Given the description of an element on the screen output the (x, y) to click on. 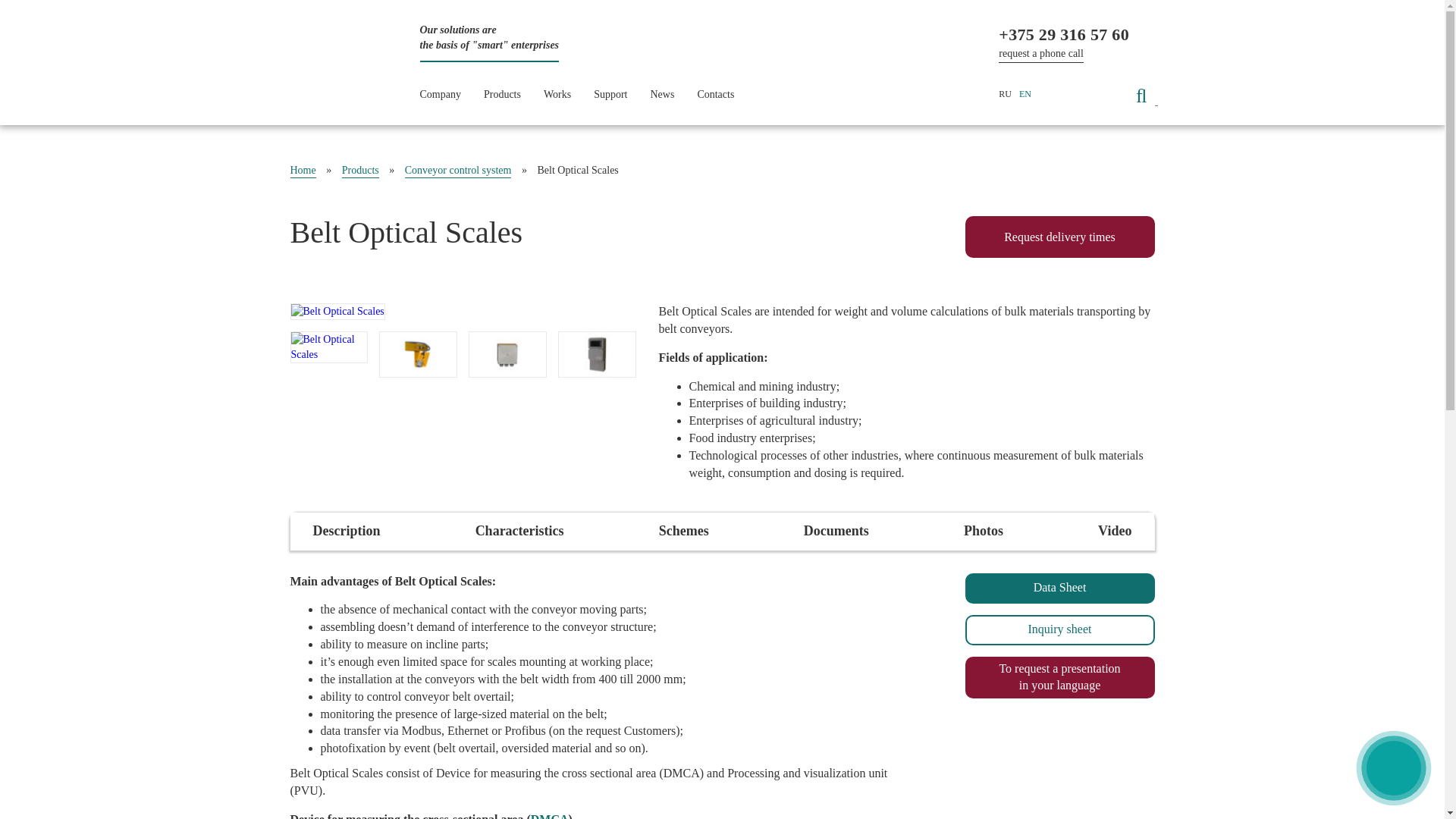
Description Element type: text (345, 531)
Contacts Element type: text (715, 94)
News Element type: text (662, 94)
Conveyor control system Element type: text (457, 171)
Data Sheet Element type: text (1059, 588)
Company Element type: text (440, 94)
Inquiry sheet Element type: text (1059, 630)
request a phone call Element type: text (1040, 54)
Schemes Element type: text (683, 531)
To request a presentation
in your language Element type: text (1059, 677)
Products Element type: text (501, 94)
Works Element type: text (557, 94)
EN Element type: text (1025, 94)
Products Element type: text (360, 171)
Home Element type: text (302, 171)
Video Element type: text (1114, 531)
Support Element type: text (610, 94)
Documents Element type: text (836, 531)
Request delivery times Element type: text (1059, 236)
Photos Element type: text (983, 531)
RU Element type: text (1004, 94)
+375 29 316 57 60 Element type: text (1063, 34)
